Given the description of an element on the screen output the (x, y) to click on. 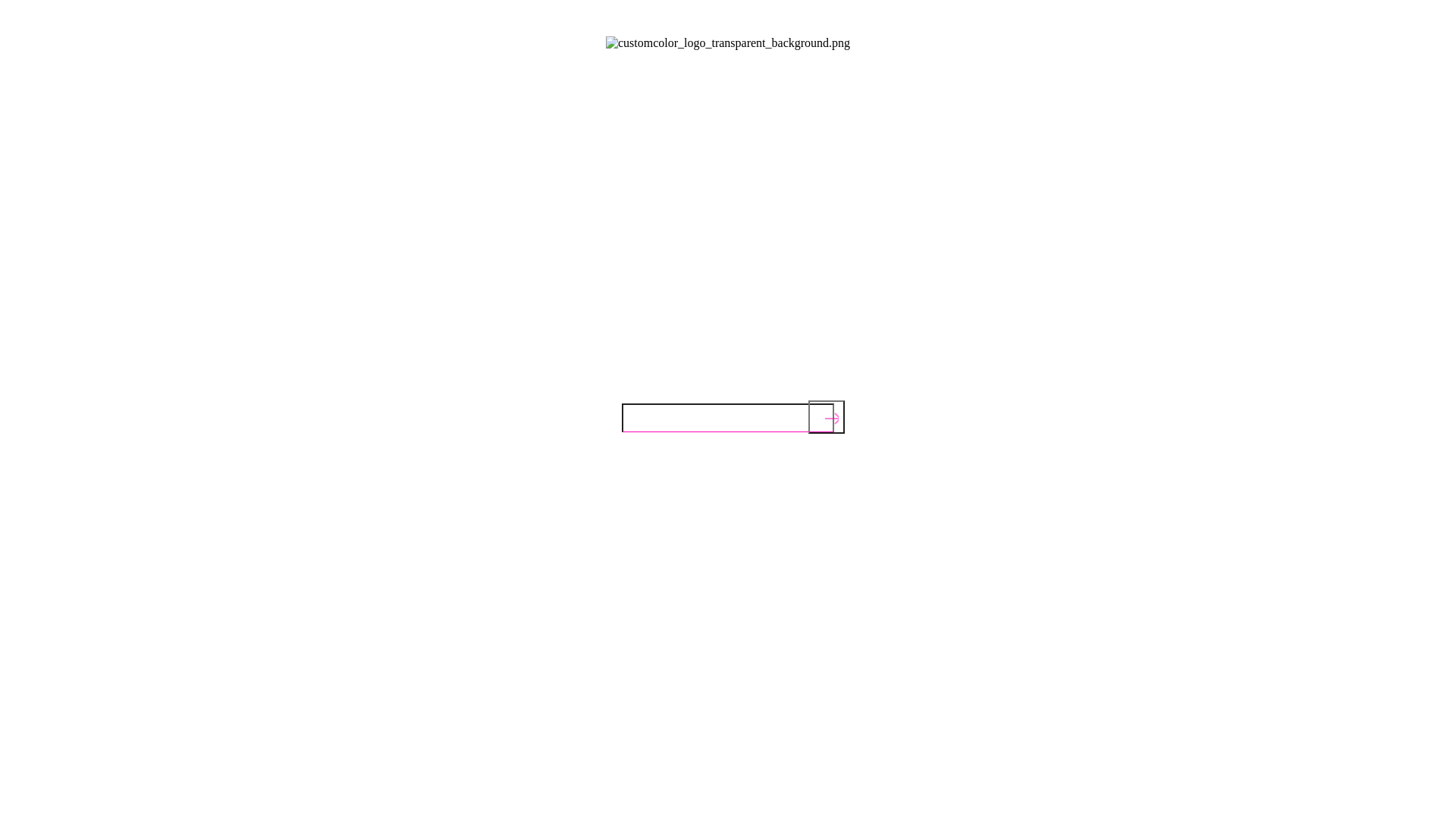
LinkedIn Element type: text (765, 370)
INSTA Element type: text (682, 370)
FB Element type: text (720, 370)
